Given the description of an element on the screen output the (x, y) to click on. 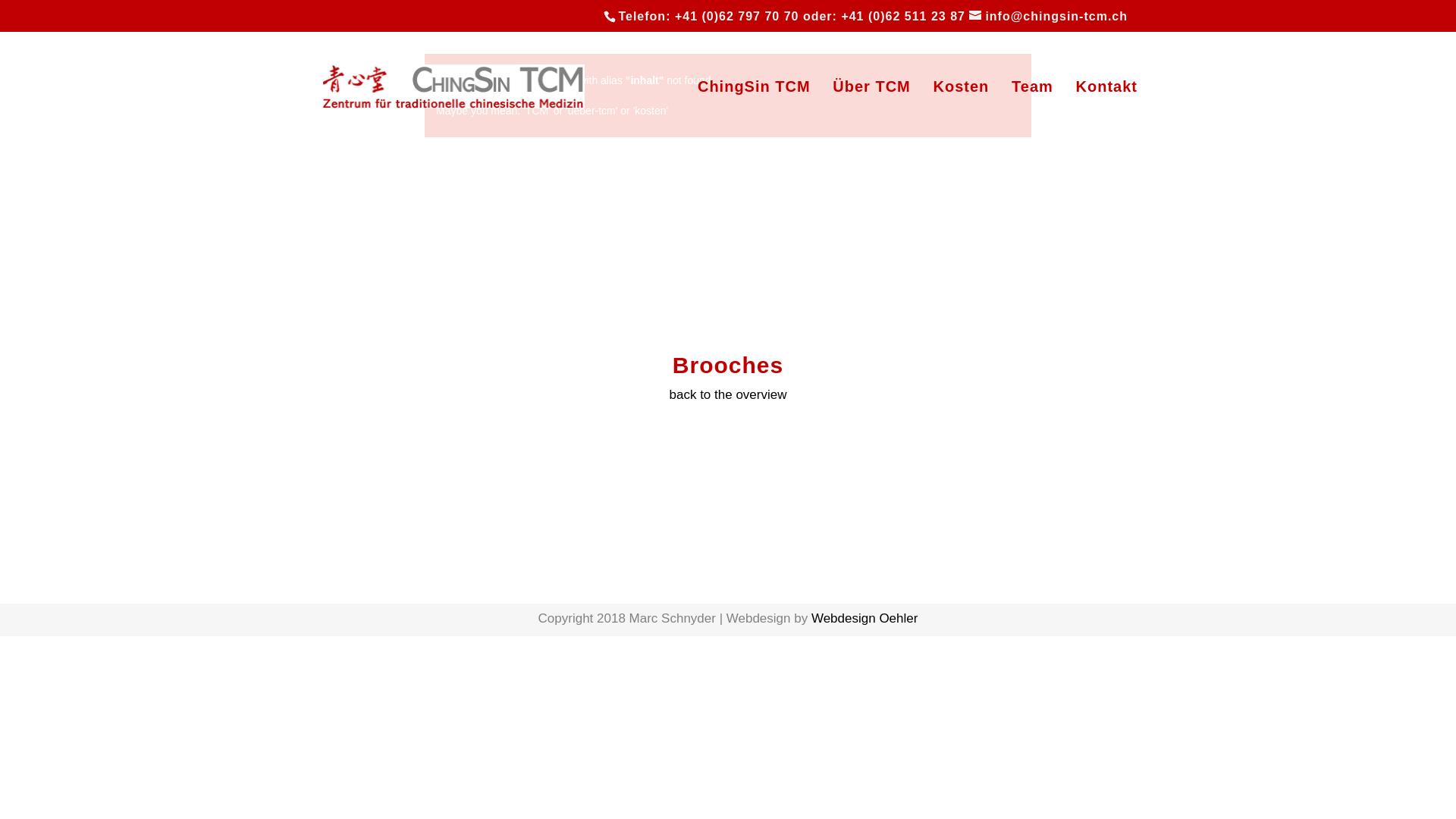
ChingSin TCM Element type: text (753, 111)
Webdesign Oehler Element type: text (864, 618)
Kontakt Element type: text (1106, 111)
back to the overview Element type: text (728, 394)
+41 (0)62 511 23 87 Element type: text (902, 15)
Kosten Element type: text (961, 111)
Team Element type: text (1032, 111)
info@chingsin-tcm.ch Element type: text (1048, 15)
+41 (0)62 797 70 70 Element type: text (736, 15)
